Given the description of an element on the screen output the (x, y) to click on. 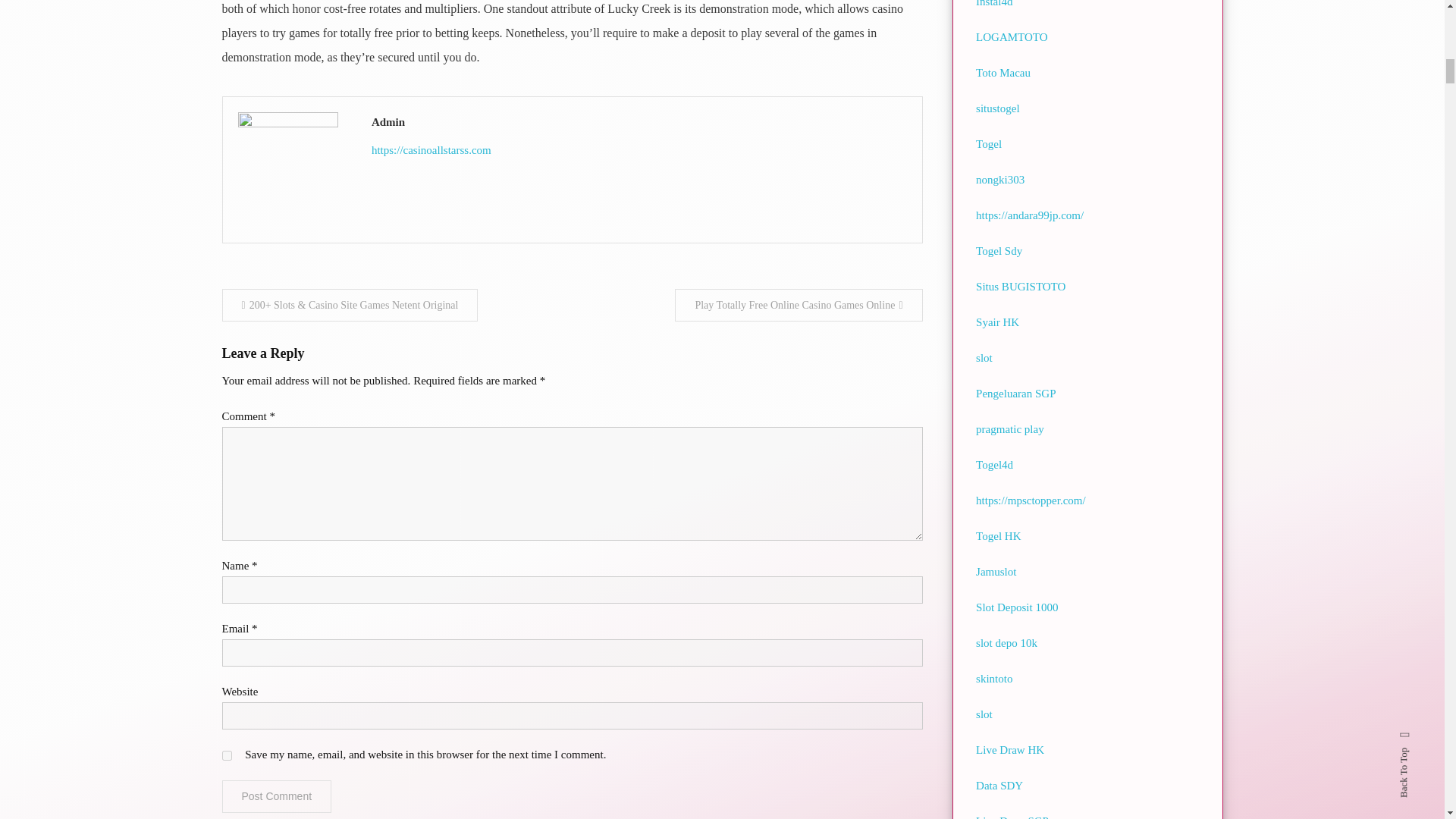
Admin (639, 122)
Play Totally Free Online Casino Games Online (798, 305)
Post Comment (276, 796)
Post Comment (276, 796)
yes (226, 755)
